Given the description of an element on the screen output the (x, y) to click on. 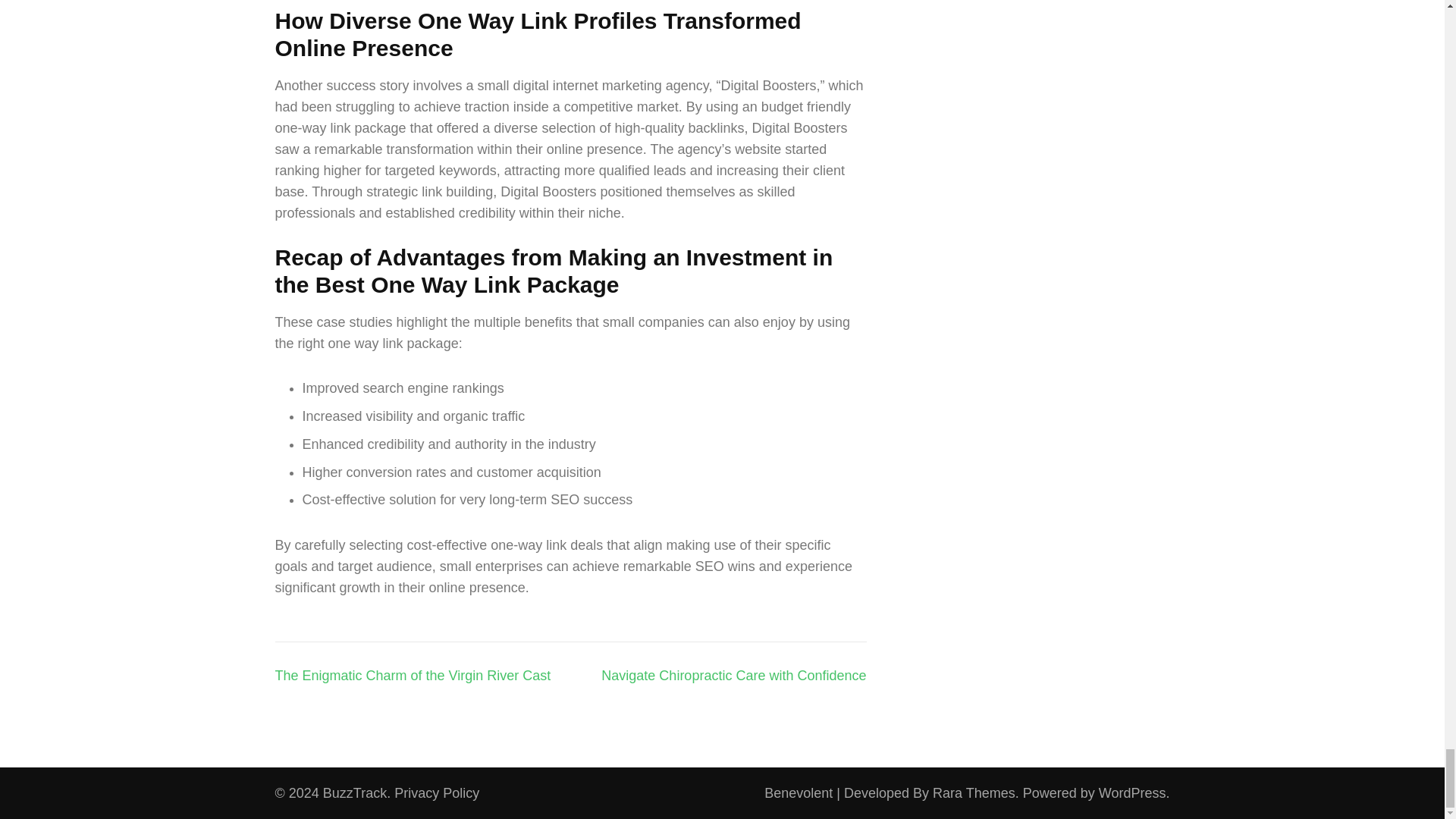
The Enigmatic Charm of the Virgin River Cast (412, 675)
Navigate Chiropractic Care with Confidence (733, 675)
